Given the description of an element on the screen output the (x, y) to click on. 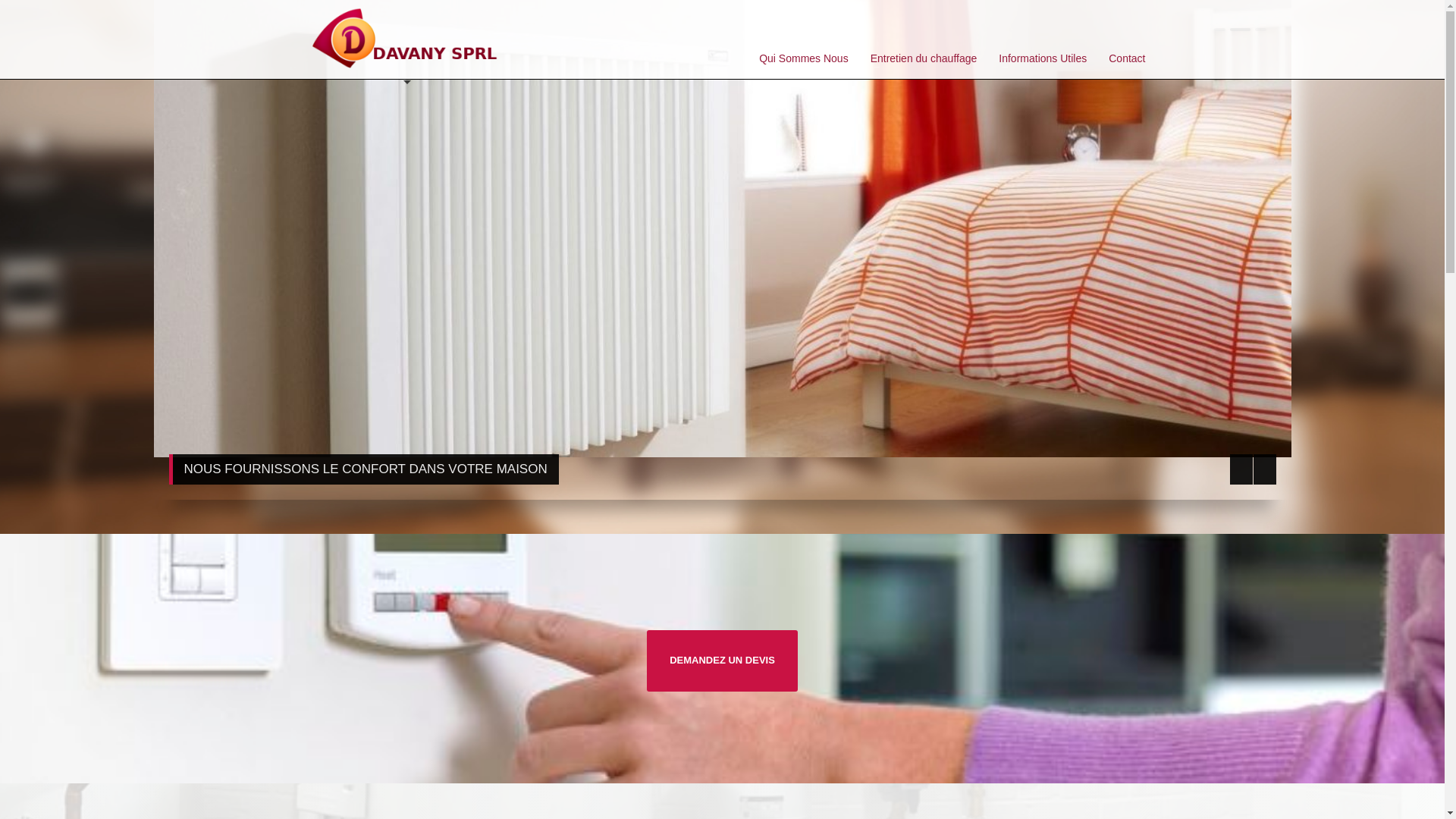
0 Element type: text (1218, 29)
Services Sanitaires, Chauffage Element type: hover (405, 39)
Nous fournissons le confort dans votre maison Element type: hover (721, 228)
Qui Sommes Nous Element type: text (802, 58)
Contact Element type: text (1126, 58)
Informations Utiles Element type: text (1042, 58)
1 Element type: text (1240, 29)
DEMANDEZ UN DEVIS Element type: text (721, 660)
Entretien du chauffage Element type: text (923, 58)
2 Element type: text (1259, 29)
